Given the description of an element on the screen output the (x, y) to click on. 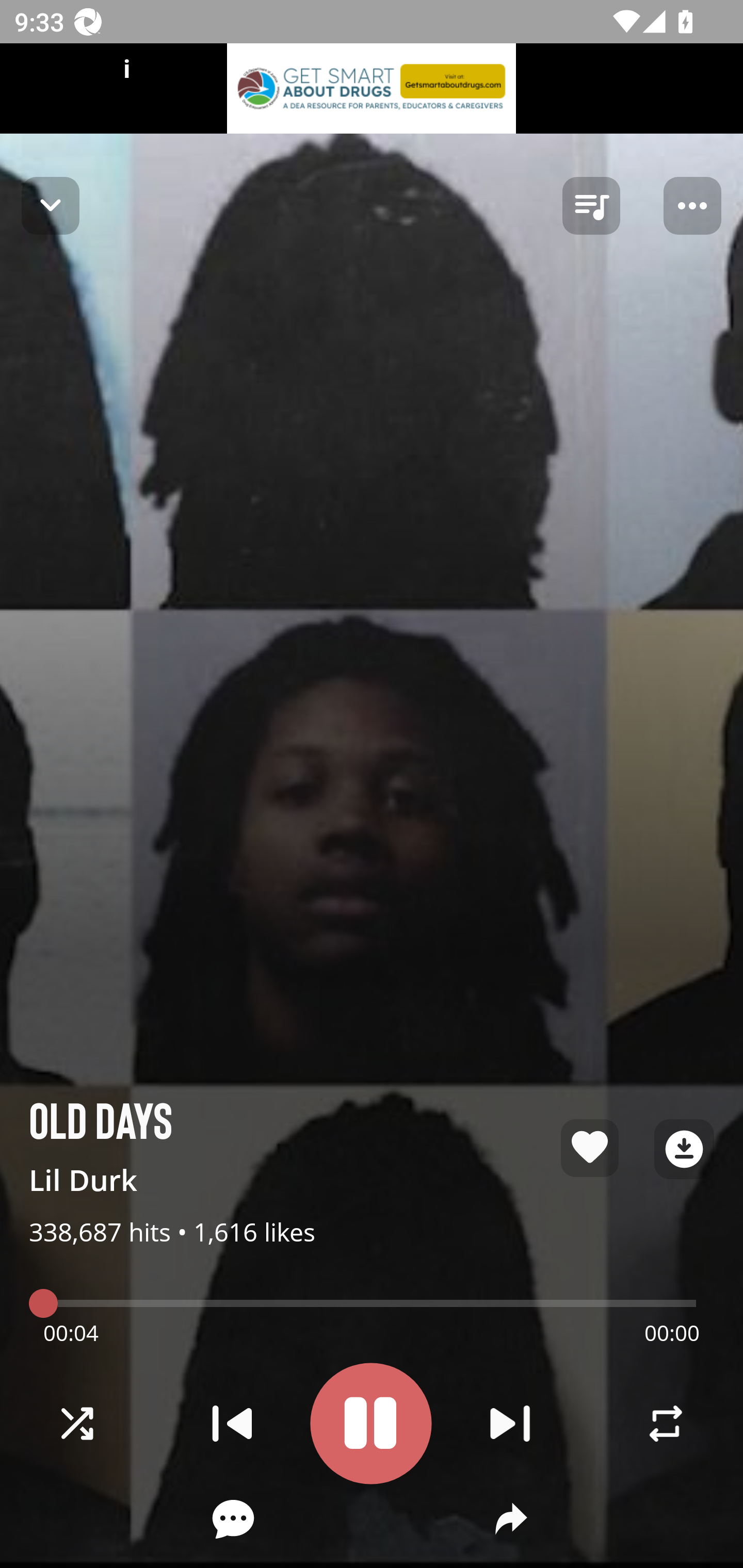
Navigate up (50, 205)
queue (590, 206)
Player options (692, 206)
